Given the description of an element on the screen output the (x, y) to click on. 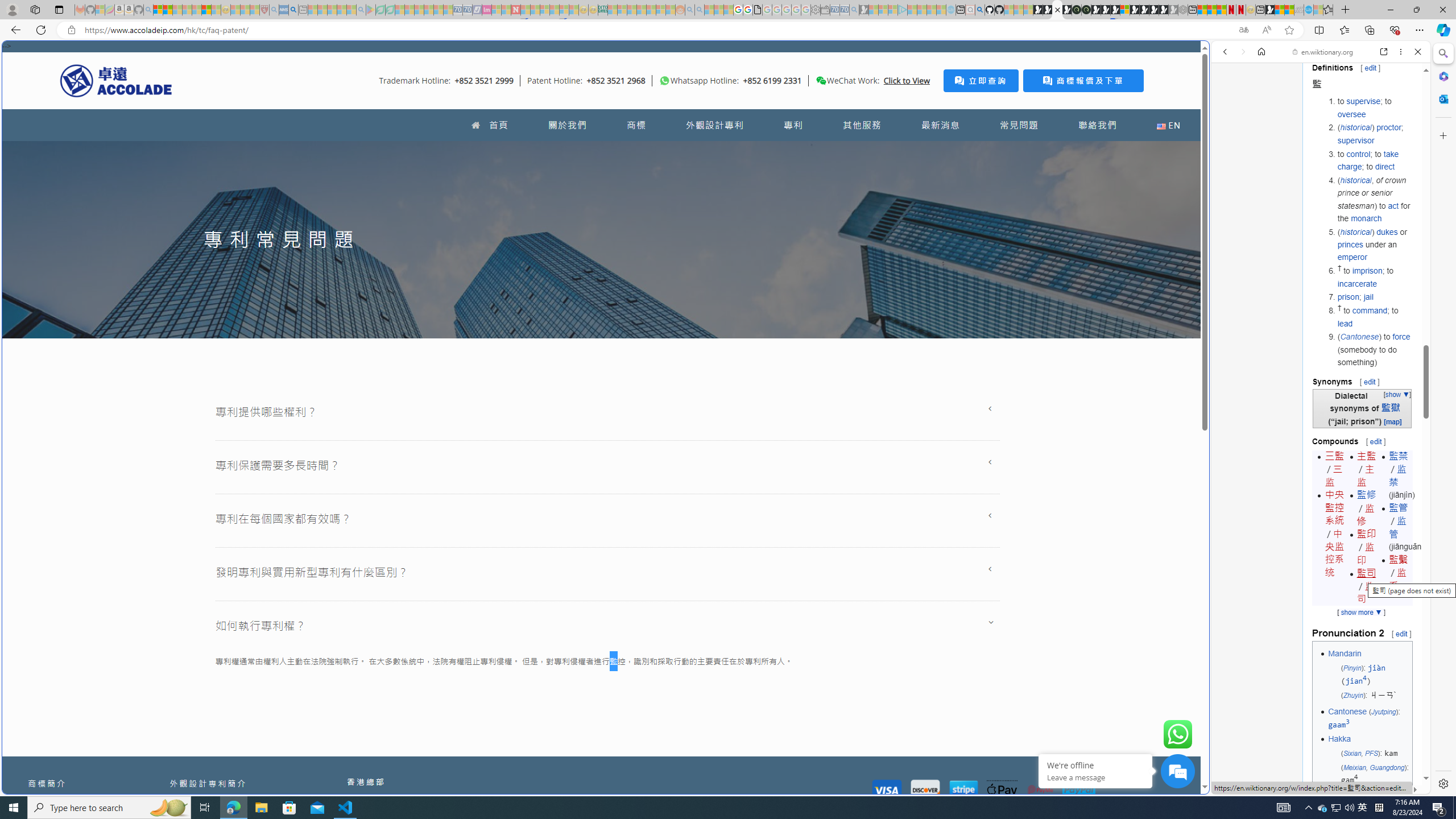
google - Search - Sleeping (360, 9)
Browser essentials (1394, 29)
(historical) dukes or princes under an emperor (1374, 244)
edit (1400, 633)
Forward (1242, 51)
imprison (1367, 271)
dukes (1386, 231)
Home | Sky Blue Bikes - Sky Blue Bikes - Sleeping (950, 9)
